Given the description of an element on the screen output the (x, y) to click on. 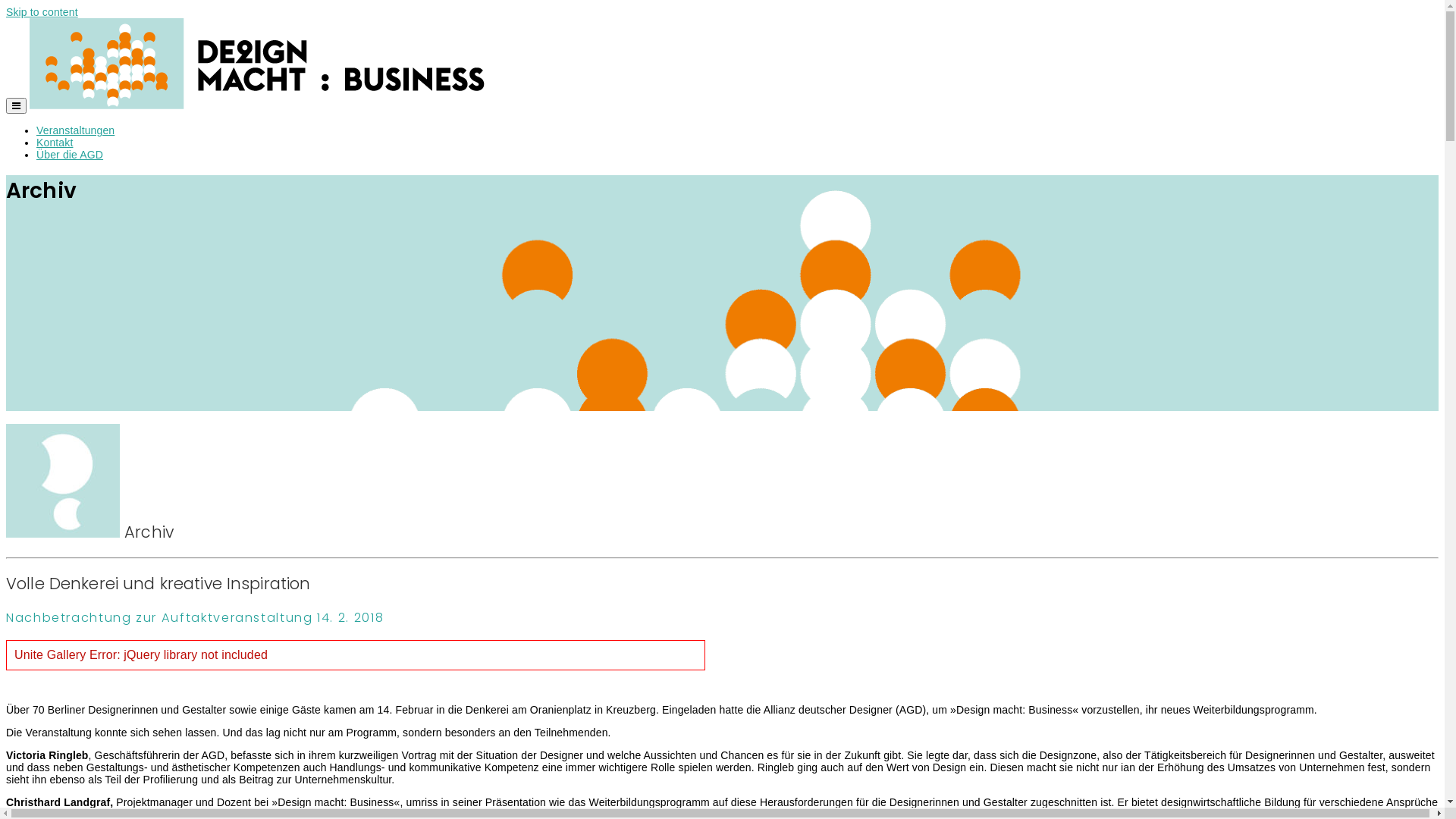
Skip to content Element type: text (42, 12)
Kontakt Element type: text (54, 142)
Veranstaltungen Element type: text (75, 130)
